Given the description of an element on the screen output the (x, y) to click on. 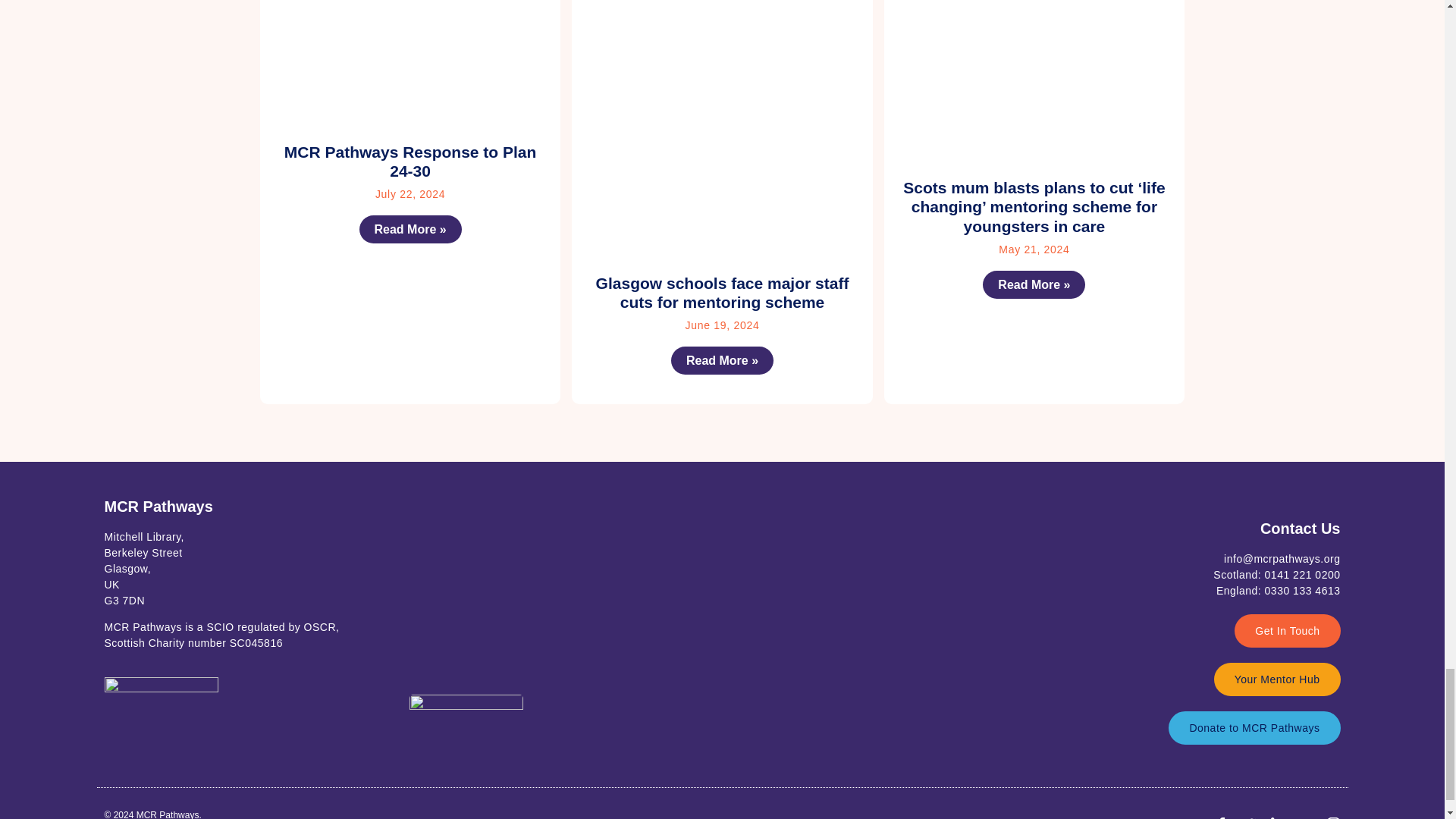
MCR Pathways Response to Plan 24-30 (410, 161)
Get In Touch (1286, 630)
Your Mentor Hub (1277, 679)
Glasgow schools face major staff cuts for mentoring scheme (721, 292)
Donate to MCR Pathways (1254, 727)
